Given the description of an element on the screen output the (x, y) to click on. 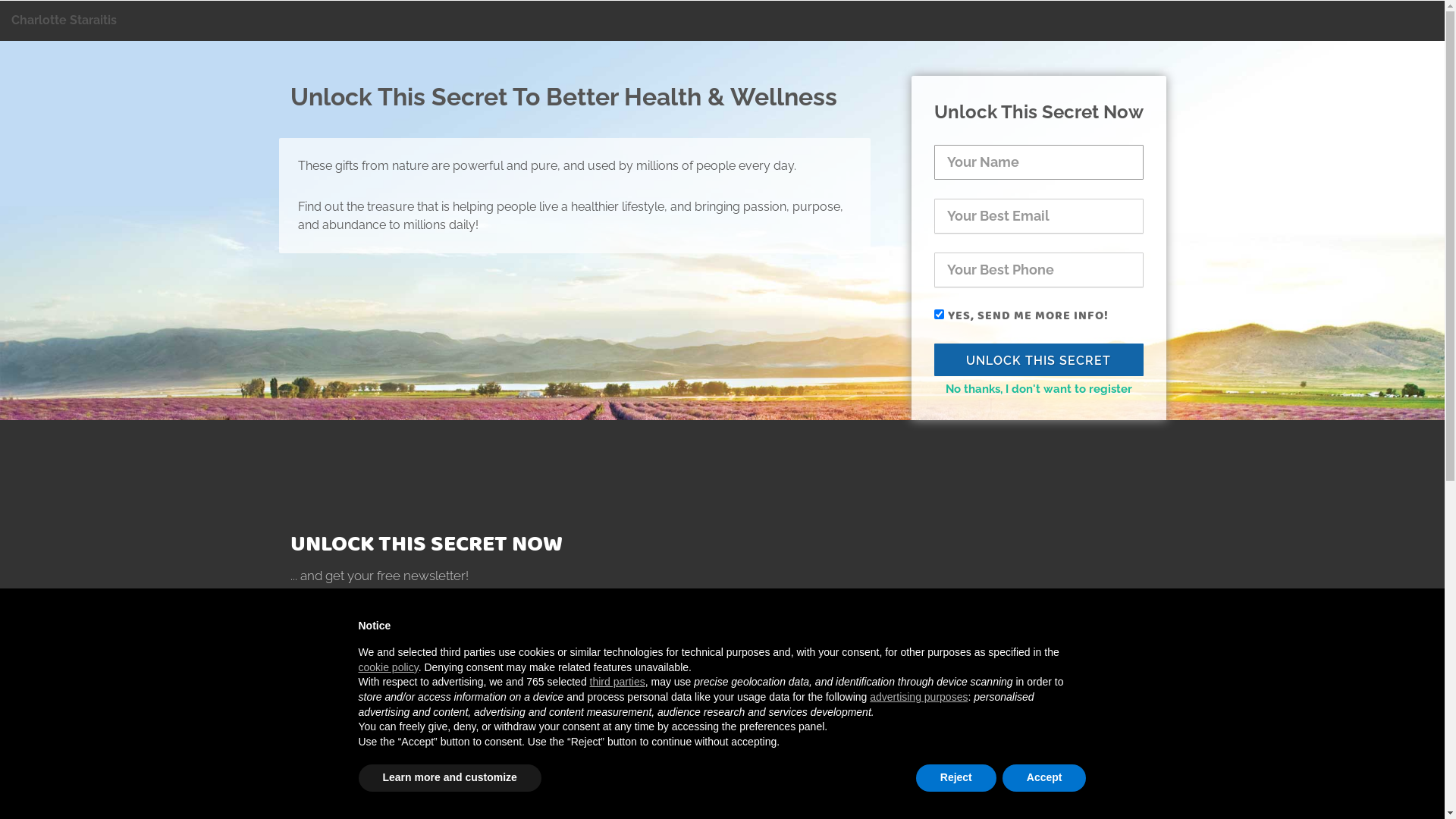
UNLOCK THIS SECRET Element type: text (1038, 358)
Learn more and customize Element type: text (448, 777)
Accept Element type: text (1044, 777)
Reject Element type: text (956, 777)
third parties Element type: text (617, 681)
cookie policy Element type: text (387, 667)
advertising purposes Element type: text (918, 696)
No thanks, I don't want to register Element type: text (1037, 388)
